Given the description of an element on the screen output the (x, y) to click on. 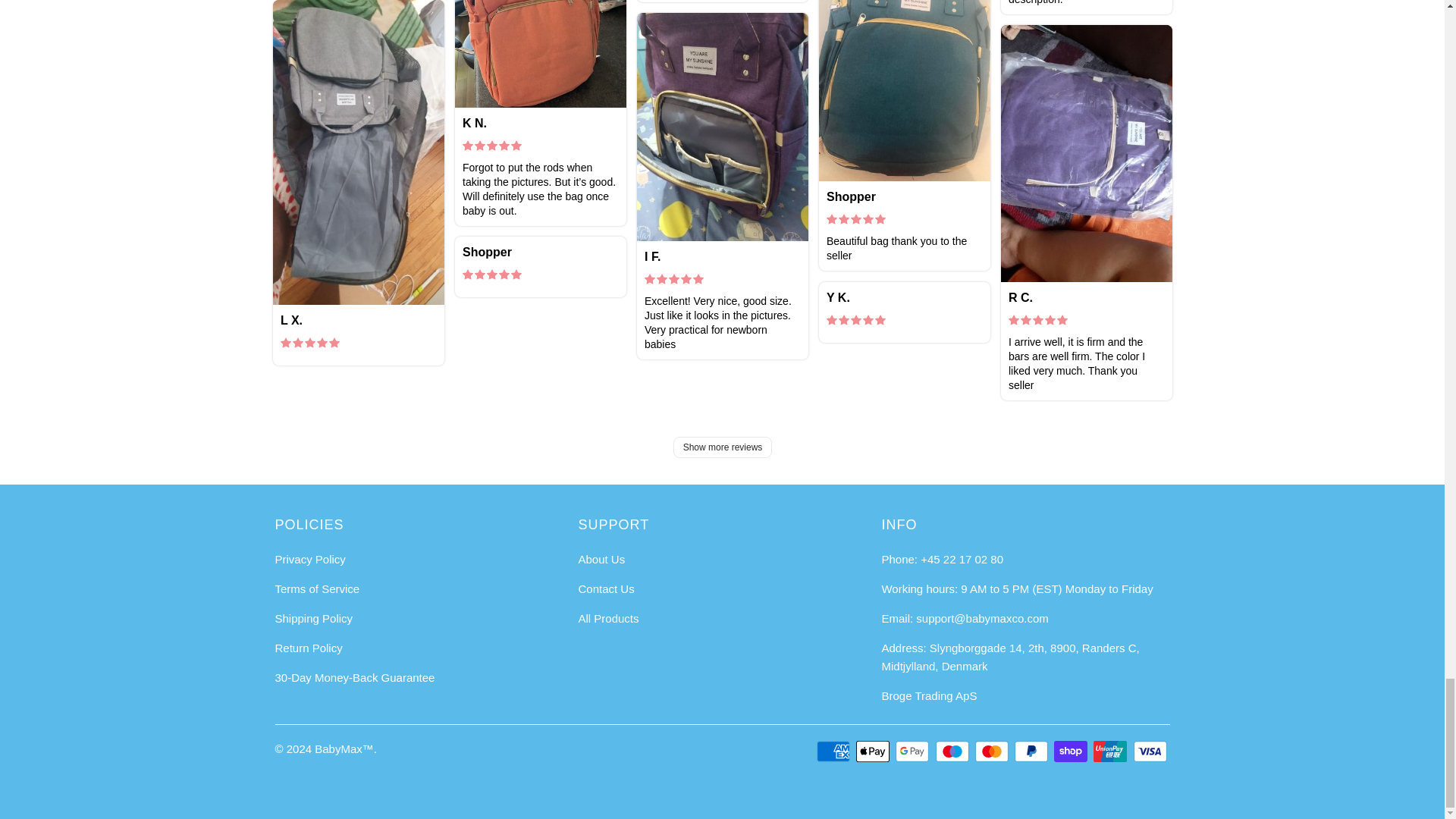
Apple Pay (874, 751)
Google Pay (913, 751)
30-Day Money-Back Guarantee (354, 676)
Maestro (954, 751)
Mastercard (993, 751)
Shop Pay (1072, 751)
Shipping Policy (313, 617)
Union Pay (1111, 751)
American Express (834, 751)
Return Policy (308, 647)
About Us (601, 558)
PayPal (1032, 751)
Terms of Service (317, 588)
Visa (1150, 751)
